Given the description of an element on the screen output the (x, y) to click on. 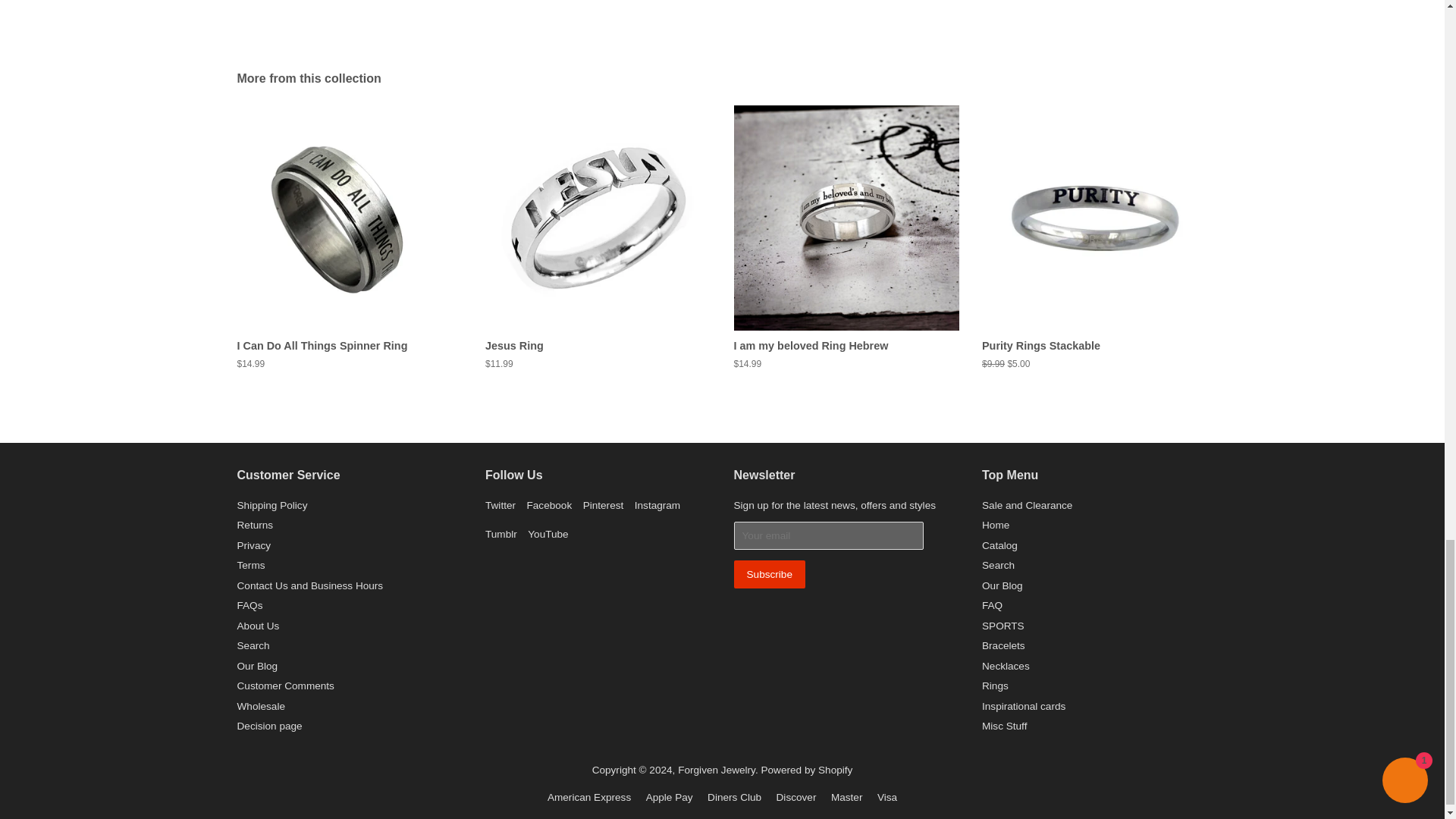
Forgiven Jewelry on Pinterest (603, 505)
Subscribe (769, 574)
Forgiven Jewelry on Facebook (548, 505)
Forgiven Jewelry on YouTube (547, 533)
Forgiven Jewelry on Tumblr (500, 533)
Forgiven Jewelry on Instagram (656, 505)
Forgiven Jewelry on Twitter (499, 505)
